Given the description of an element on the screen output the (x, y) to click on. 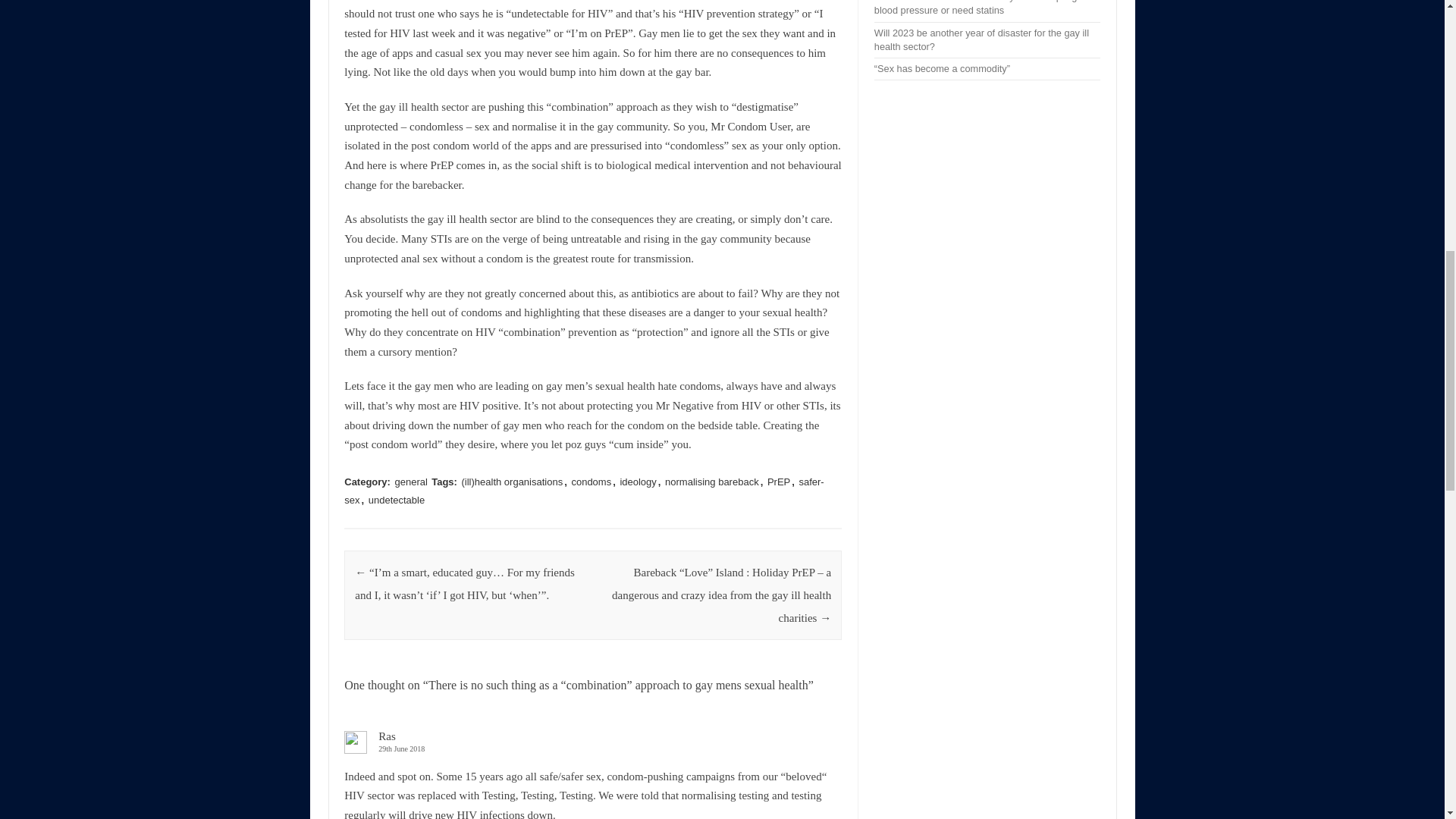
condoms (590, 481)
normalising bareback (711, 481)
undetectable (396, 499)
ideology (637, 481)
general (411, 481)
PrEP (778, 481)
29th June 2018 (592, 748)
safer-sex (583, 490)
